Given the description of an element on the screen output the (x, y) to click on. 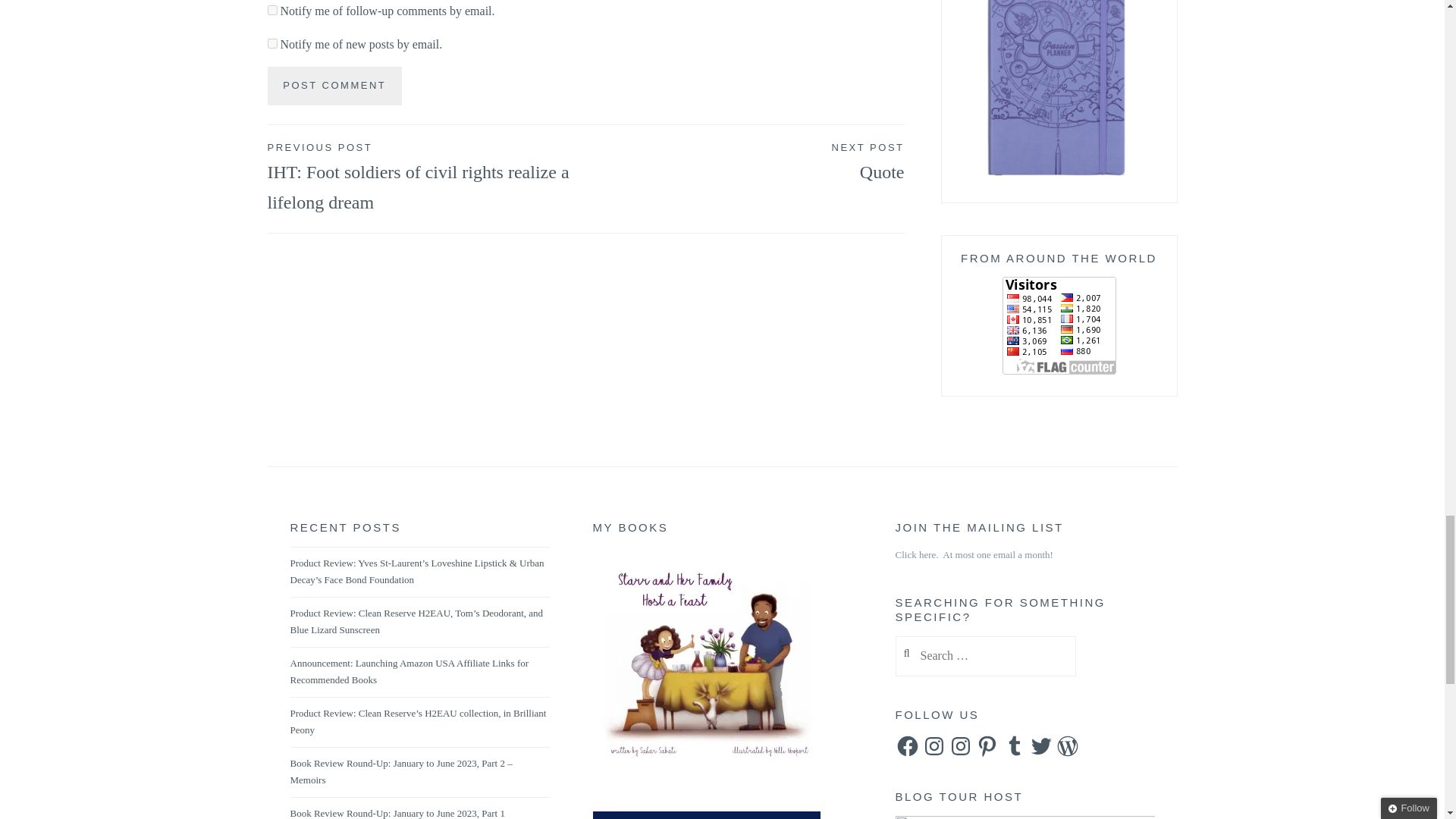
Post Comment (333, 85)
subscribe (271, 9)
subscribe (271, 43)
